Given the description of an element on the screen output the (x, y) to click on. 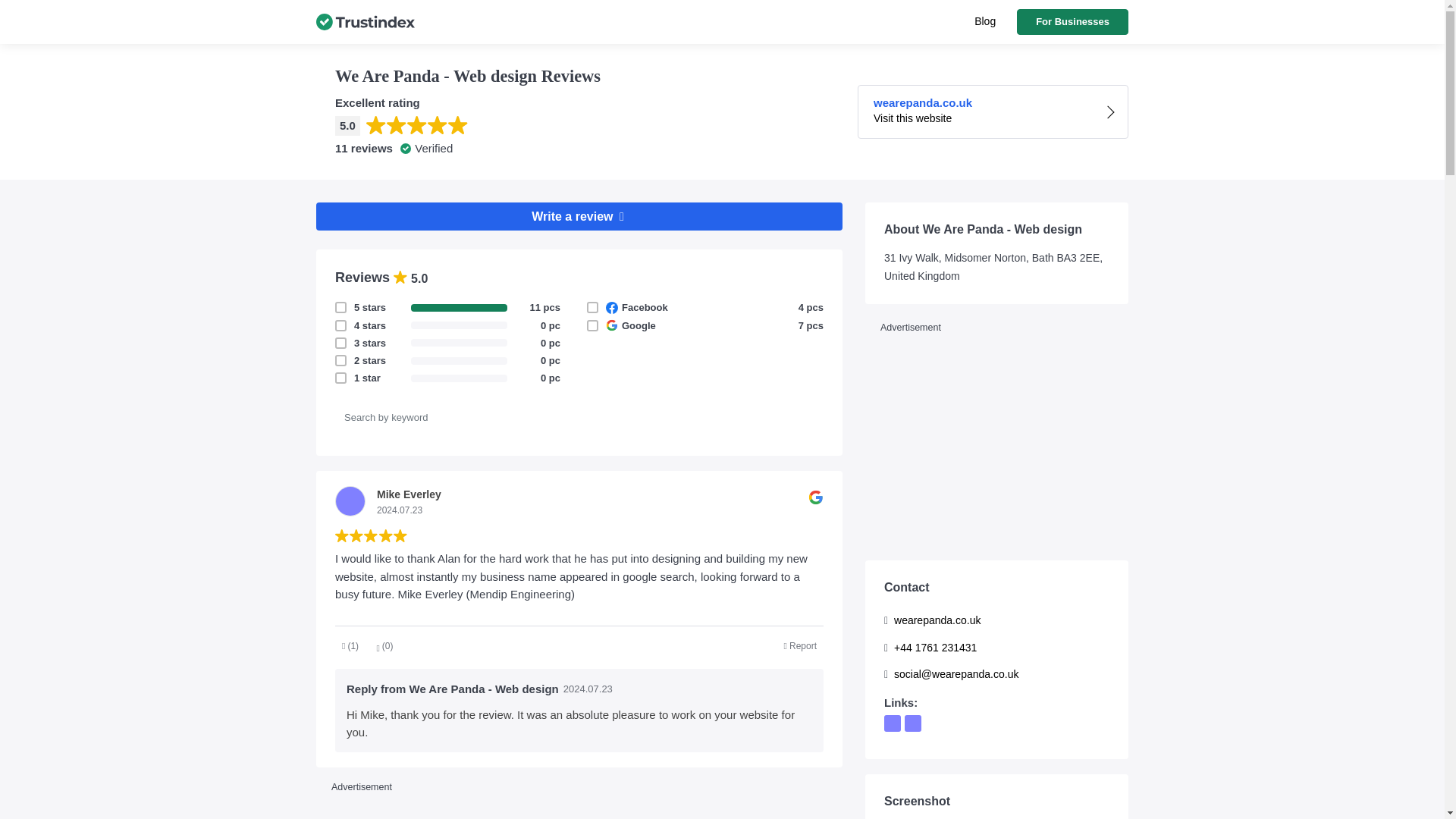
2 (992, 111)
4 (354, 360)
Advertisement (354, 325)
1 (579, 807)
5 (354, 378)
3 (354, 307)
Advertisement (354, 343)
Write a review (996, 442)
Google (579, 216)
Blog (606, 325)
Report (984, 21)
For Businesses (800, 646)
Facebook (1072, 22)
